Given the description of an element on the screen output the (x, y) to click on. 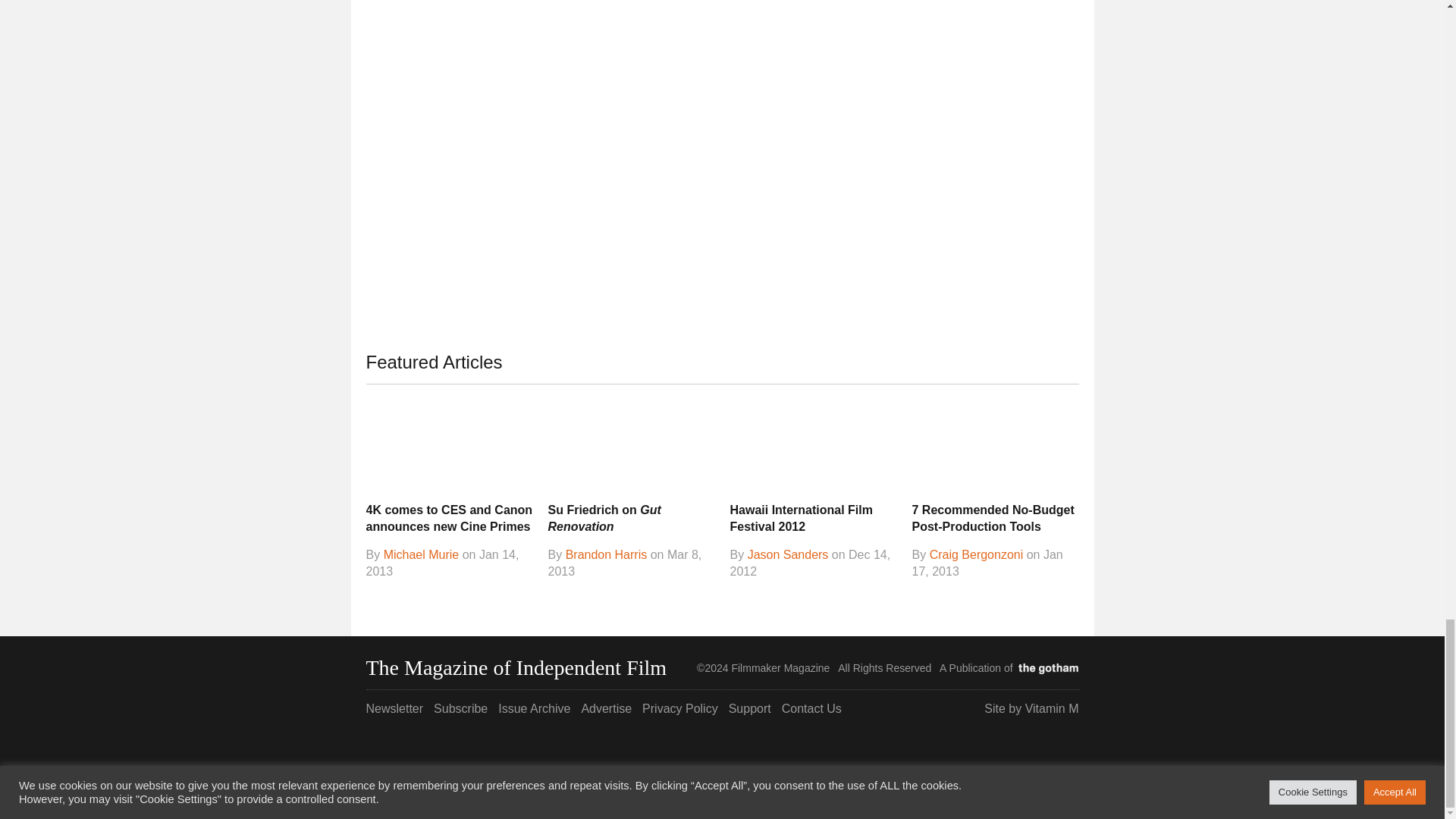
Posts by Jason Sanders (788, 554)
Posts by Michael Murie (422, 554)
Posts by Craig Bergonzoni (976, 554)
Posts by Brandon Harris (606, 554)
